Given the description of an element on the screen output the (x, y) to click on. 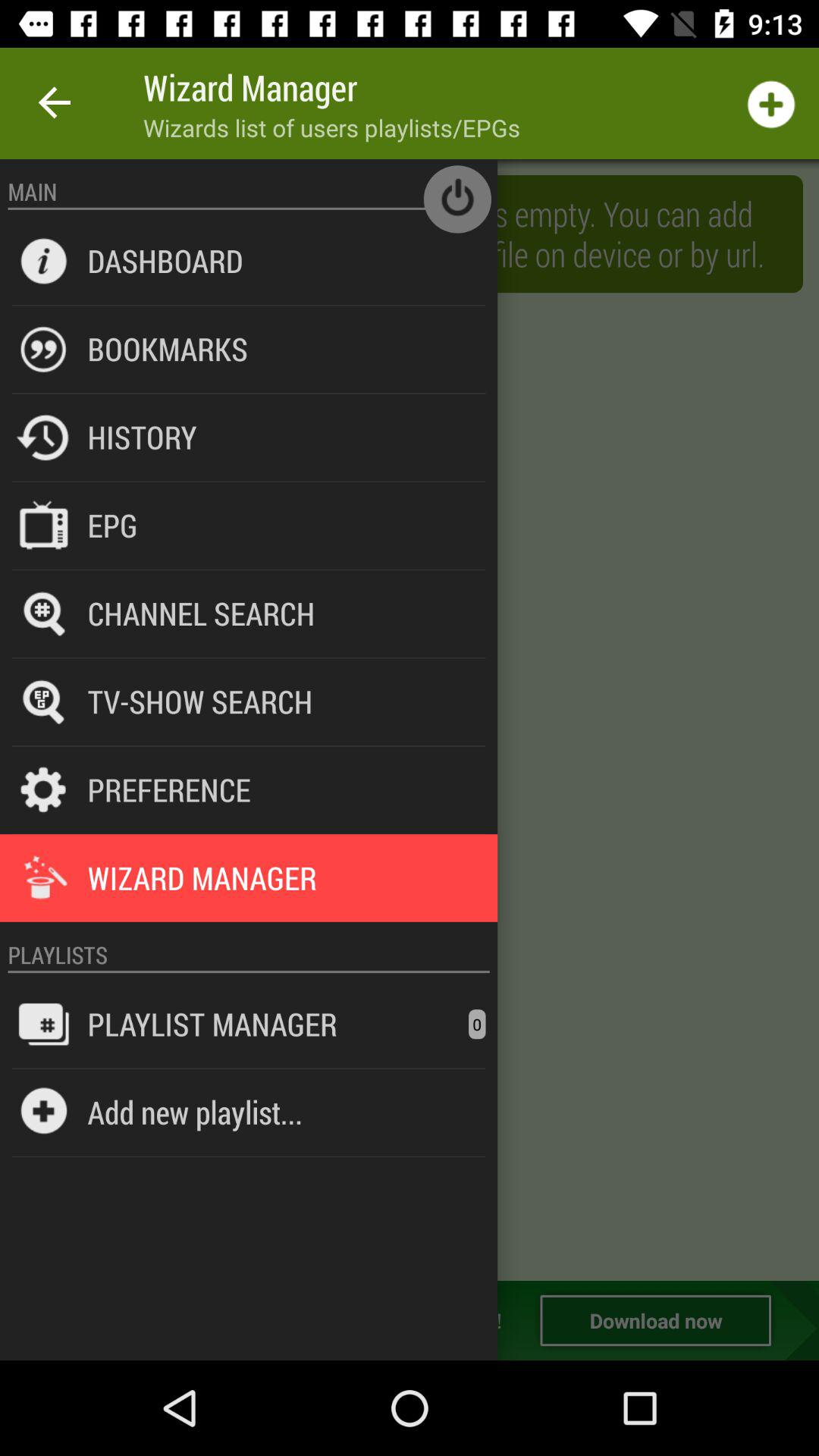
open epg item (112, 524)
